Given the description of an element on the screen output the (x, y) to click on. 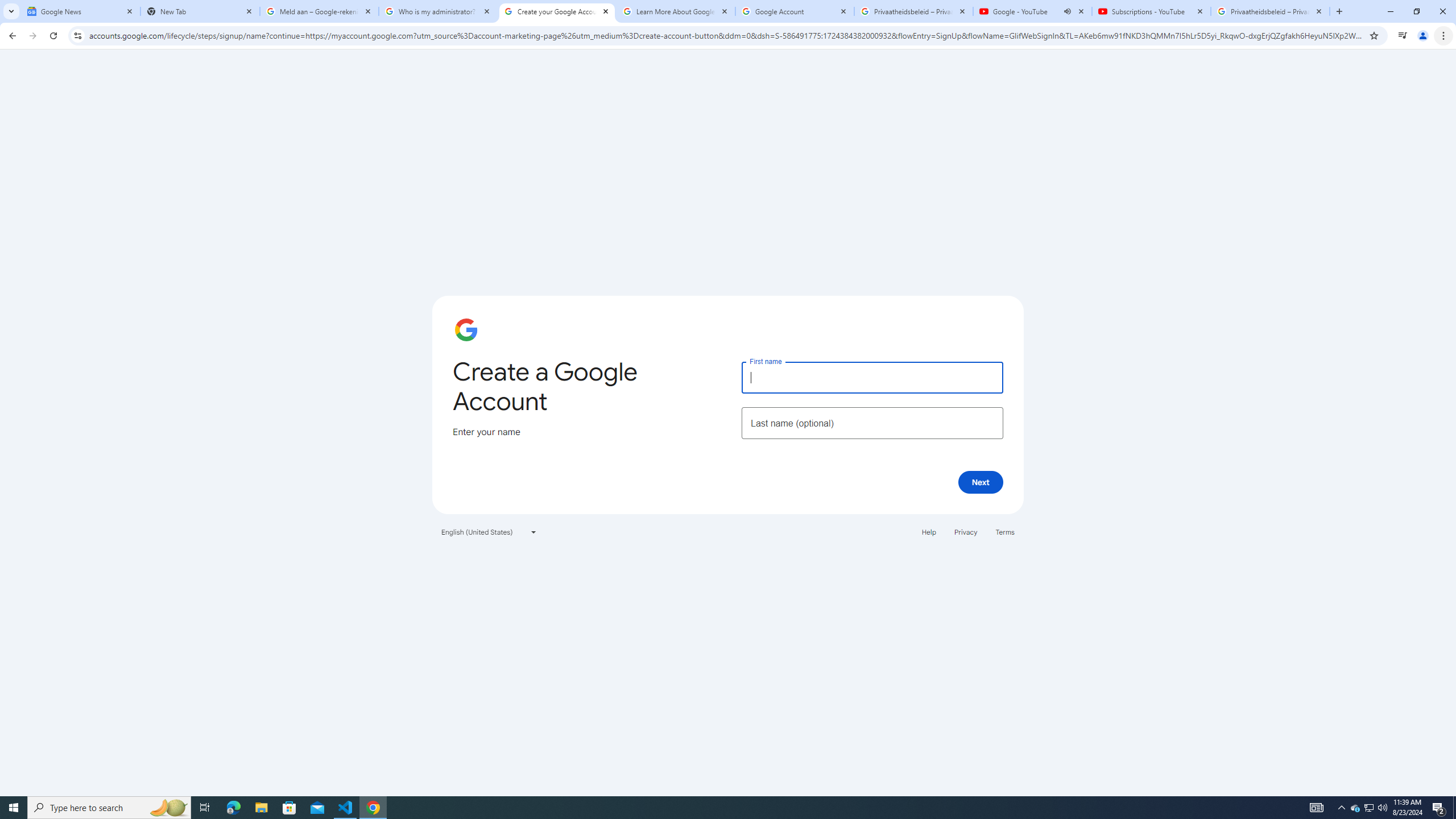
Google Account (794, 11)
New Tab (199, 11)
Google News (80, 11)
Create your Google Account (556, 11)
